Given the description of an element on the screen output the (x, y) to click on. 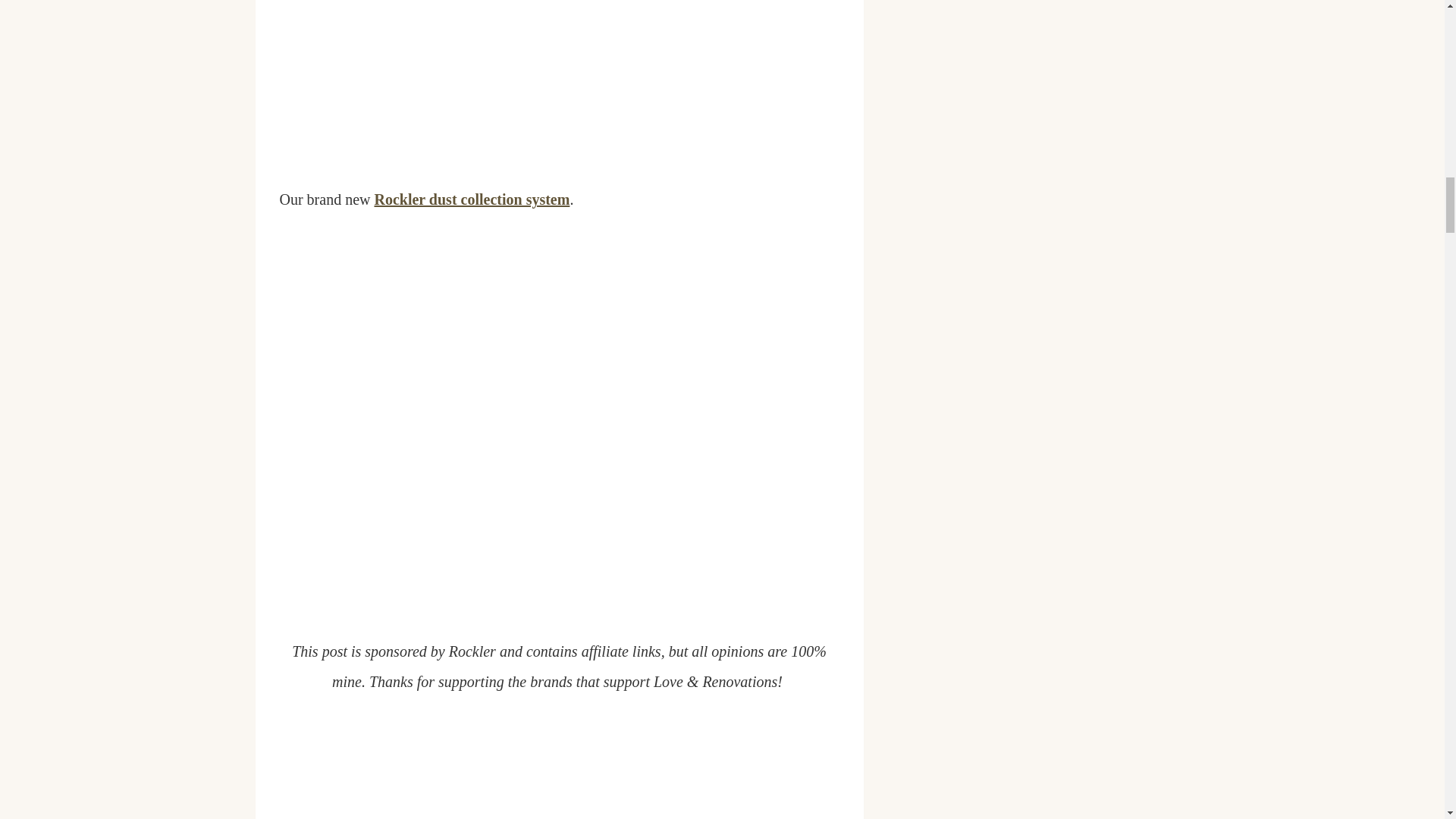
Rockler dust collection system (471, 199)
